Given the description of an element on the screen output the (x, y) to click on. 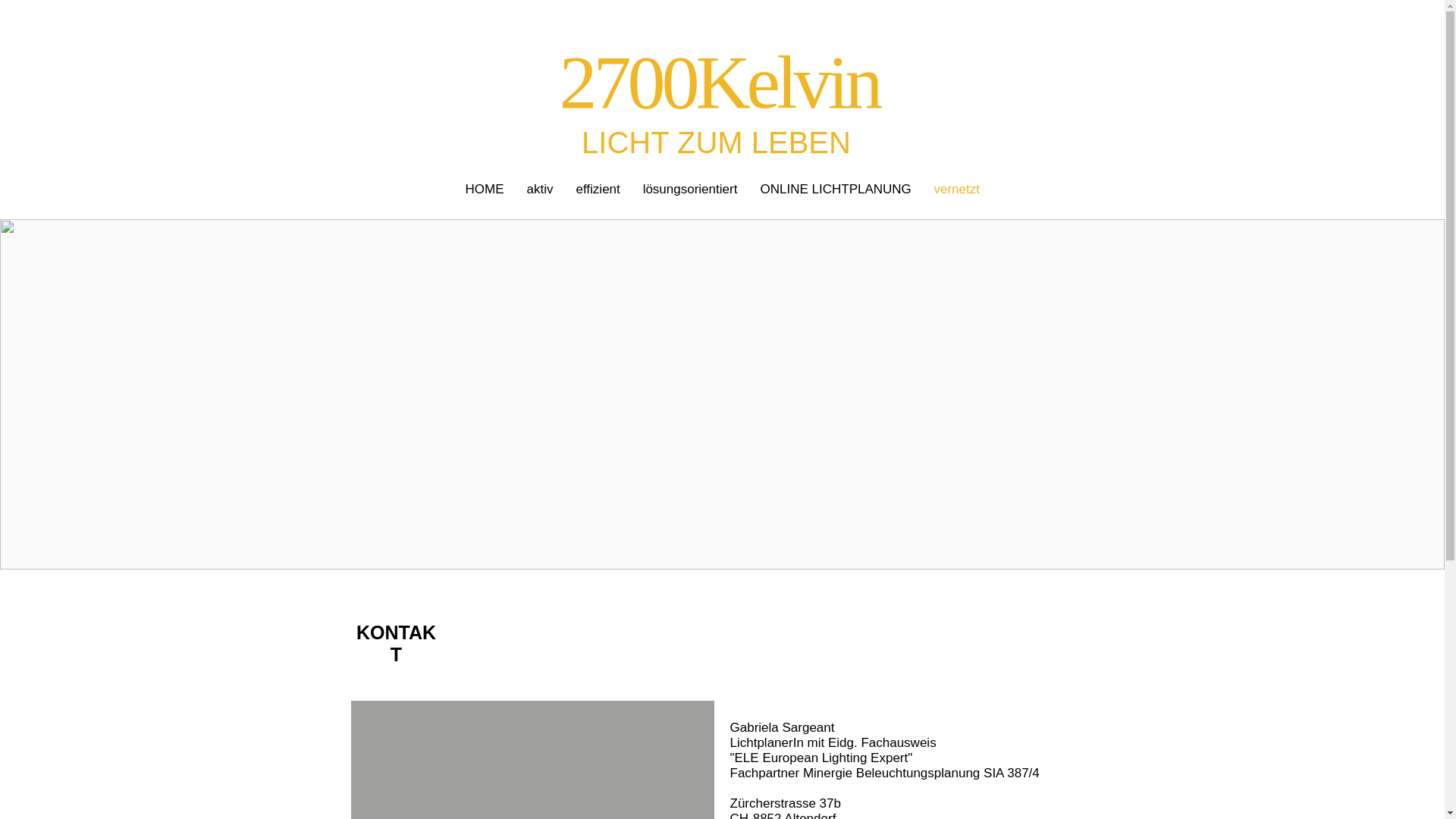
ONLINE LICHTPLANUNG Element type: text (835, 189)
HOME Element type: text (483, 189)
aktiv Element type: text (539, 189)
vernetzt Element type: text (956, 189)
effizient Element type: text (597, 189)
